Given the description of an element on the screen output the (x, y) to click on. 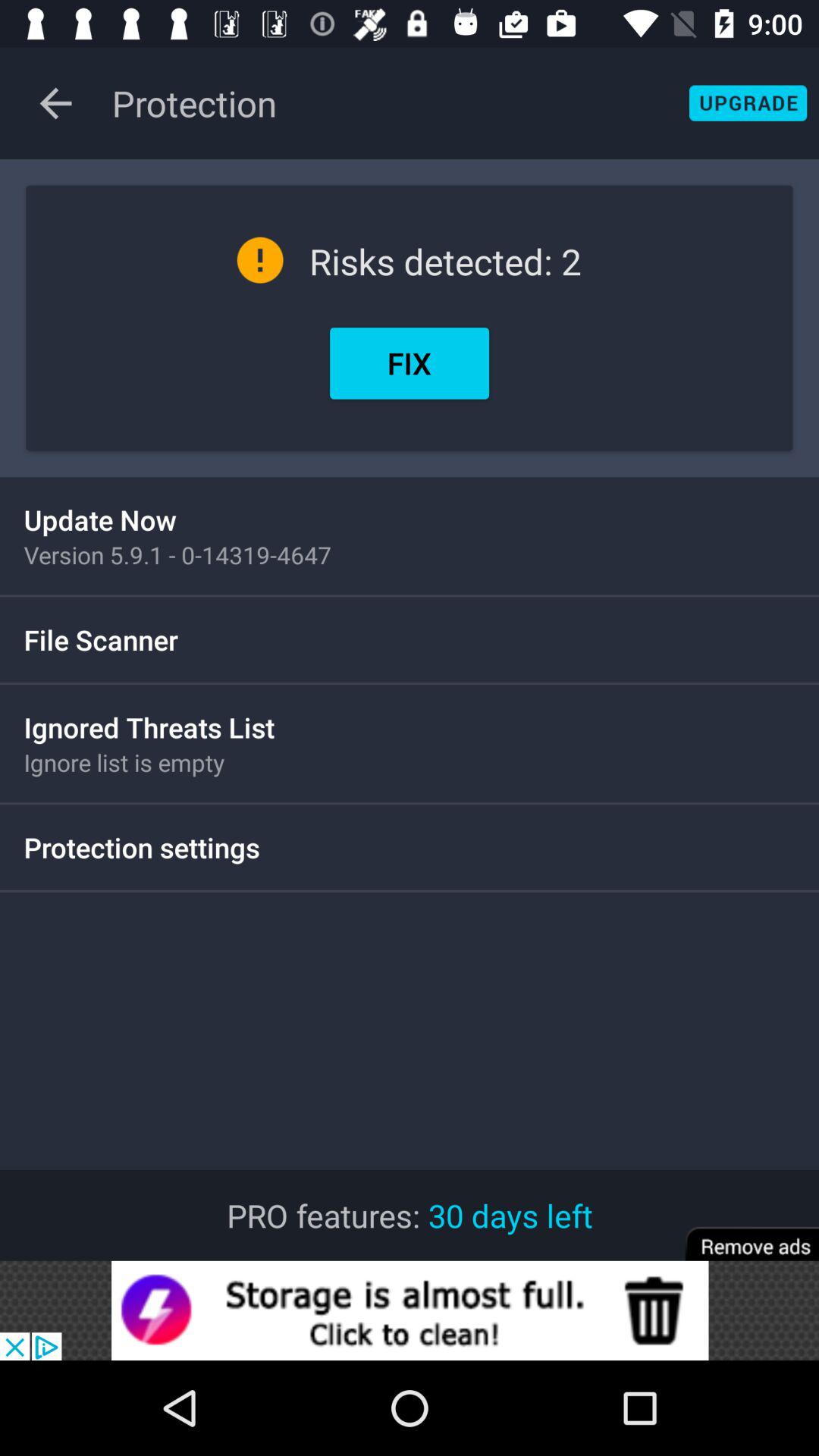
upgrade button (748, 103)
